Given the description of an element on the screen output the (x, y) to click on. 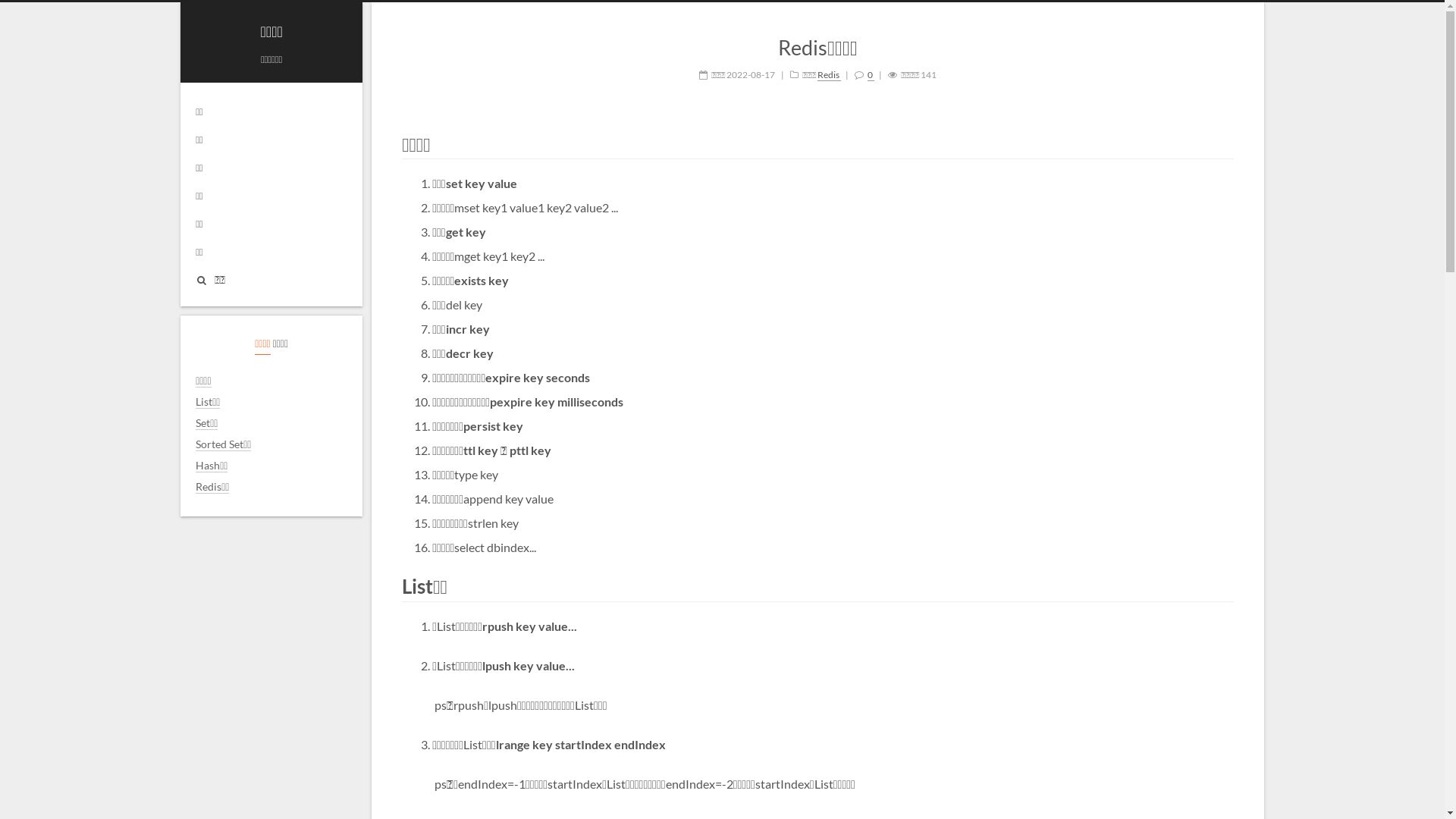
0 Element type: text (870, 75)
Redis Element type: text (828, 75)
